Given the description of an element on the screen output the (x, y) to click on. 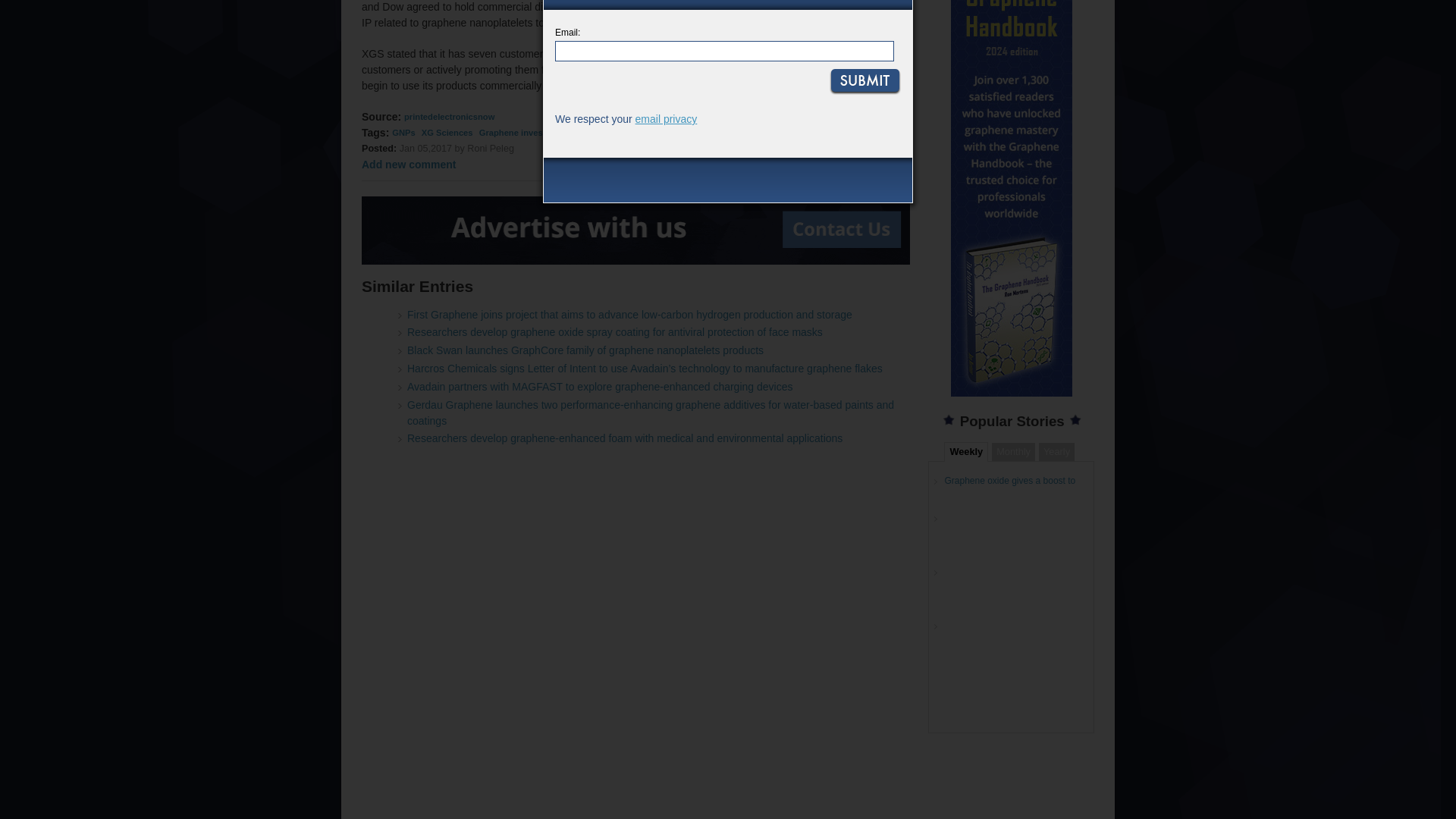
Graphene investing and financials (548, 132)
Add new comment (408, 164)
XG Sciences (447, 132)
printedelectronicsnow (449, 116)
Share your thoughts and opinions. (408, 164)
GNPs (402, 132)
Privacy Policy (665, 119)
